Given the description of an element on the screen output the (x, y) to click on. 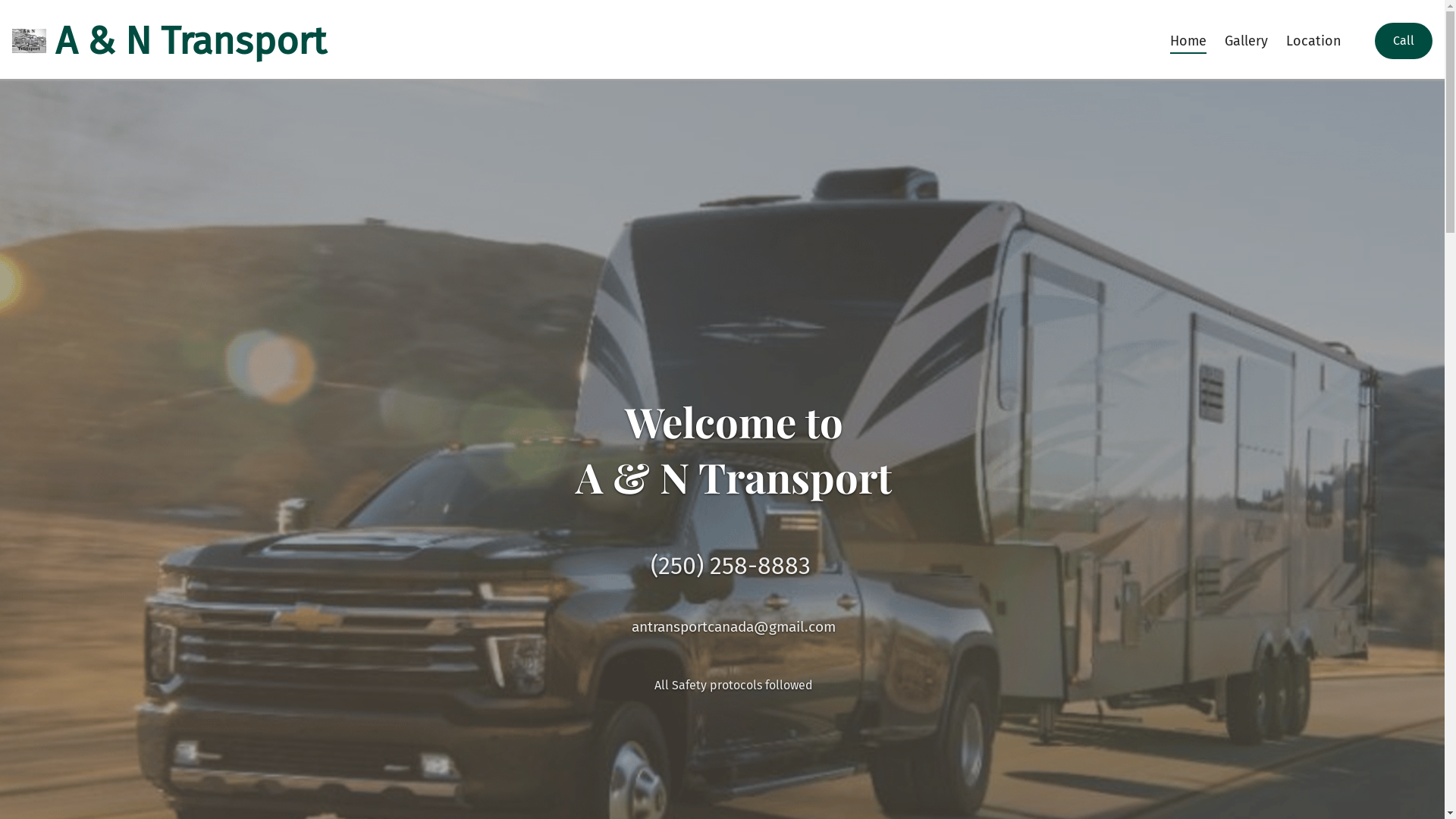
Home Element type: text (1188, 40)
Call Element type: text (1403, 40)
Gallery Element type: text (1246, 40)
A & N Transport Element type: text (169, 40)
Location Element type: text (1313, 40)
